Given the description of an element on the screen output the (x, y) to click on. 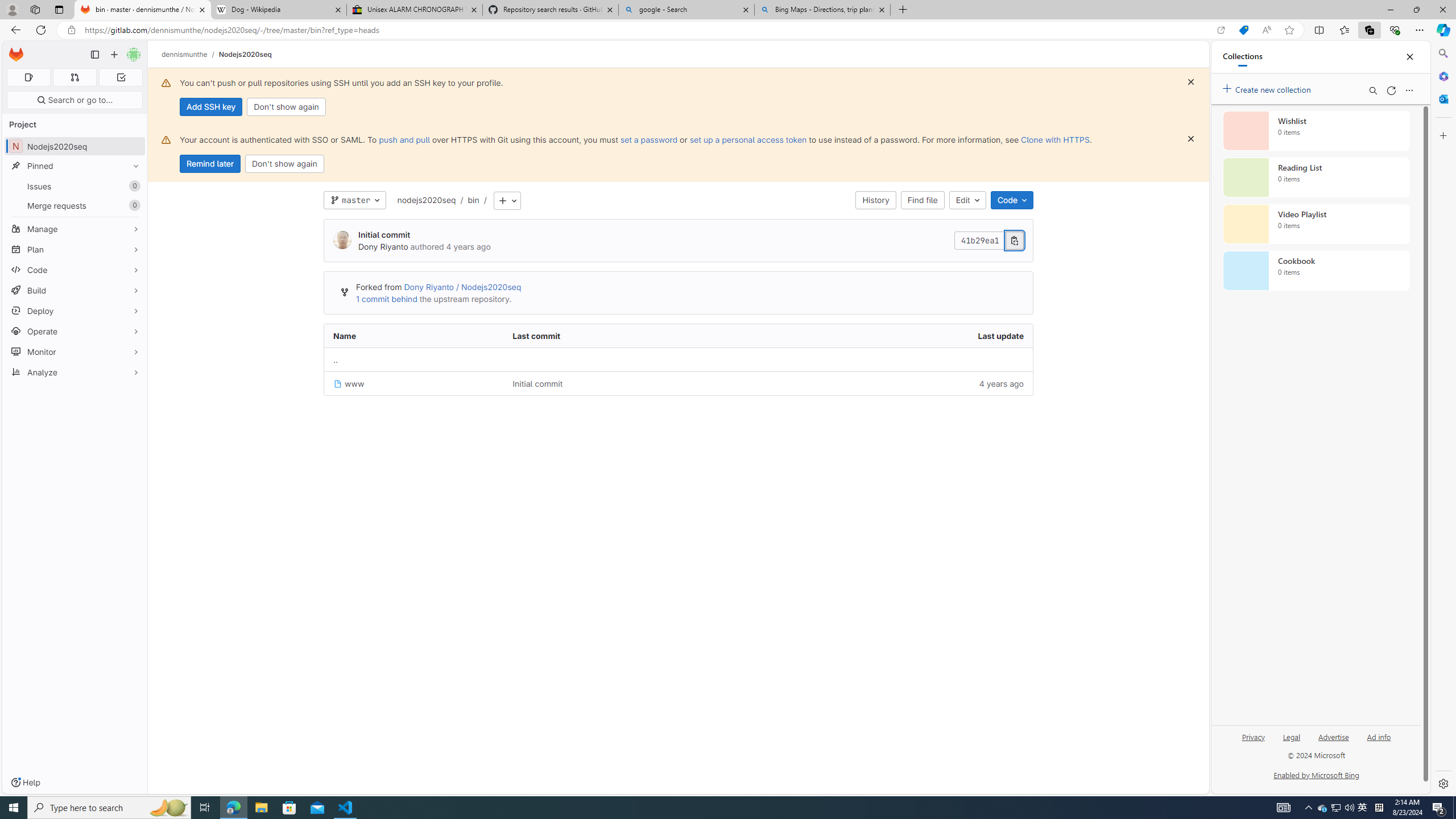
nodejs2020seq (426, 199)
Analyze (74, 371)
Pinned (74, 165)
N Nodejs2020seq (74, 145)
Merge requests 0 (74, 76)
Go to parent (678, 359)
Assigned issues 0 (28, 76)
